Given the description of an element on the screen output the (x, y) to click on. 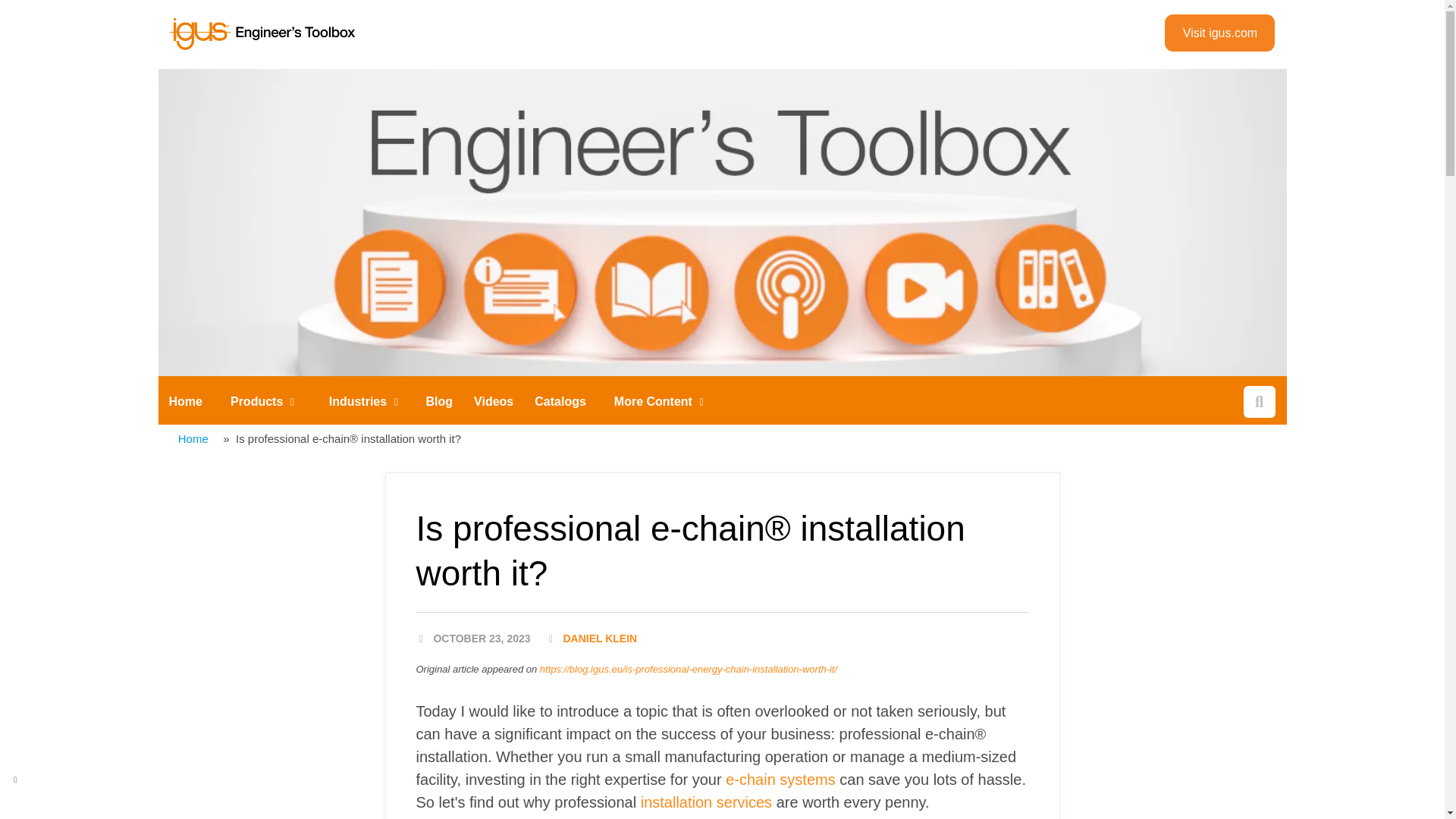
Visit igus.com (1219, 32)
Home (185, 401)
Open Search Box (1259, 401)
Published Date (471, 638)
Author (363, 401)
